Given the description of an element on the screen output the (x, y) to click on. 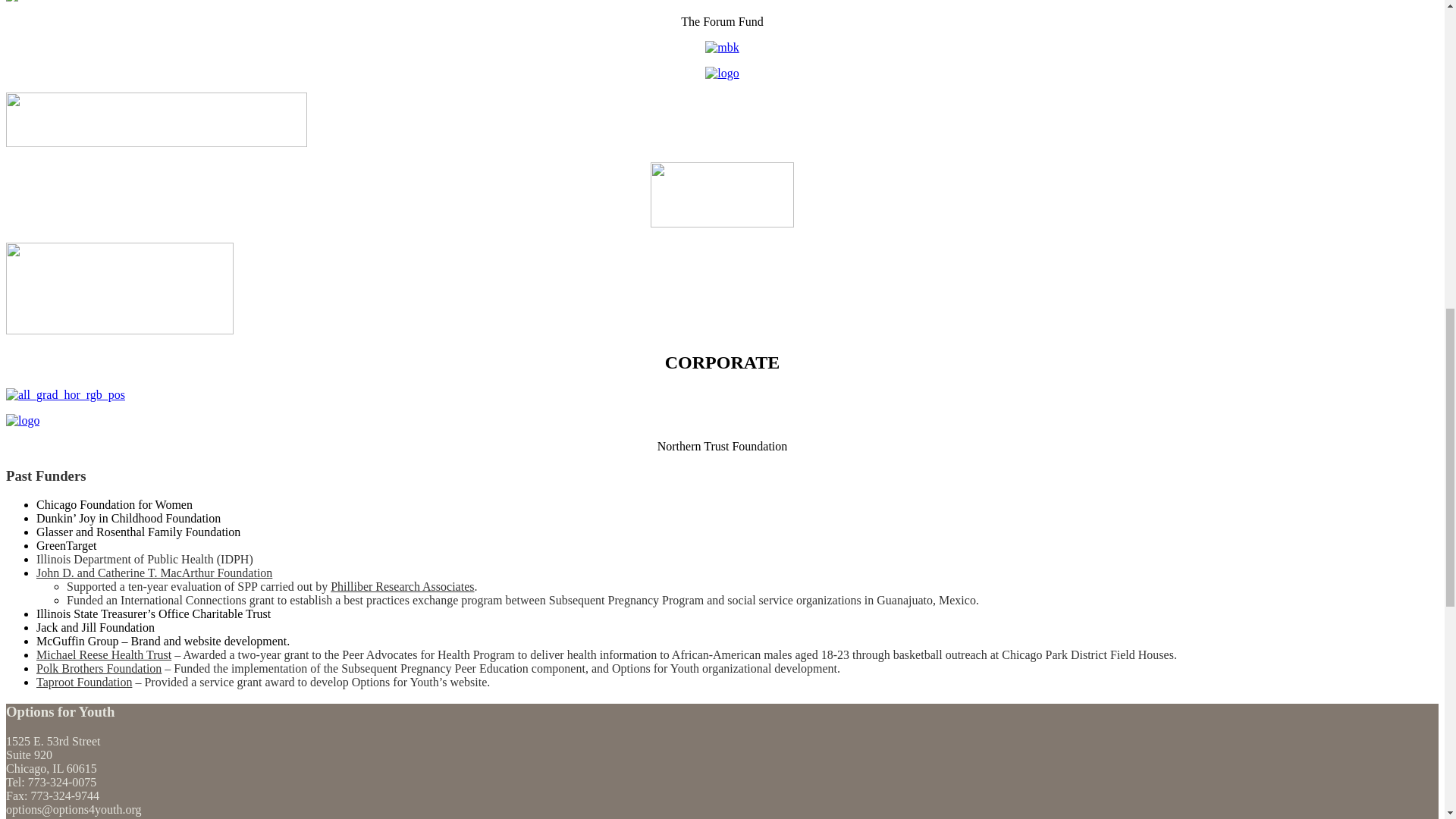
Philliber Research Associates (402, 585)
Taproot Foundation (84, 681)
Michael Reese Health Trust (103, 654)
Polk Brothers Foundation (98, 667)
John D. and Catherine T. MacArthur Foundation (154, 572)
